Given the description of an element on the screen output the (x, y) to click on. 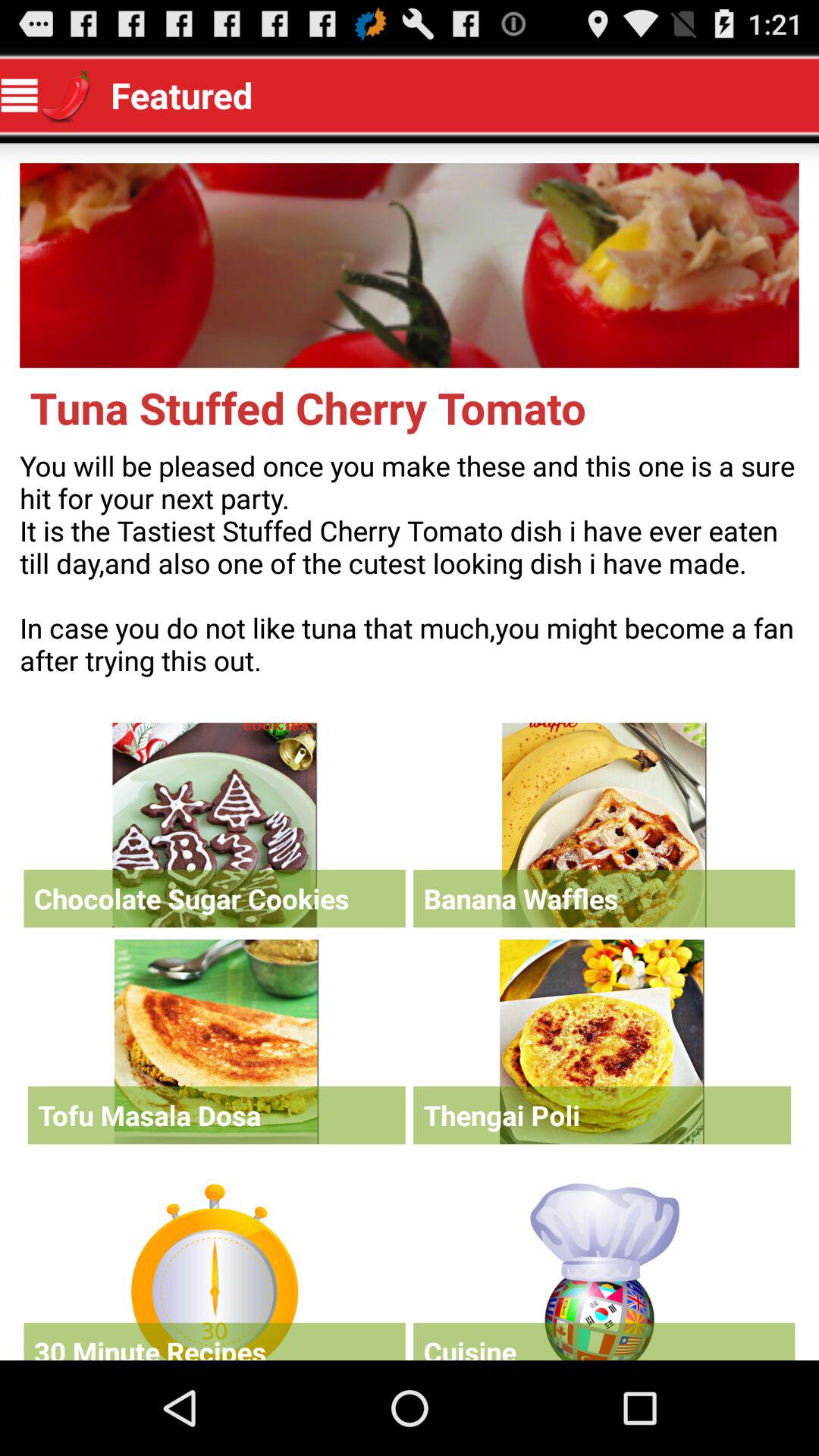
recipe selection (214, 824)
